Given the description of an element on the screen output the (x, y) to click on. 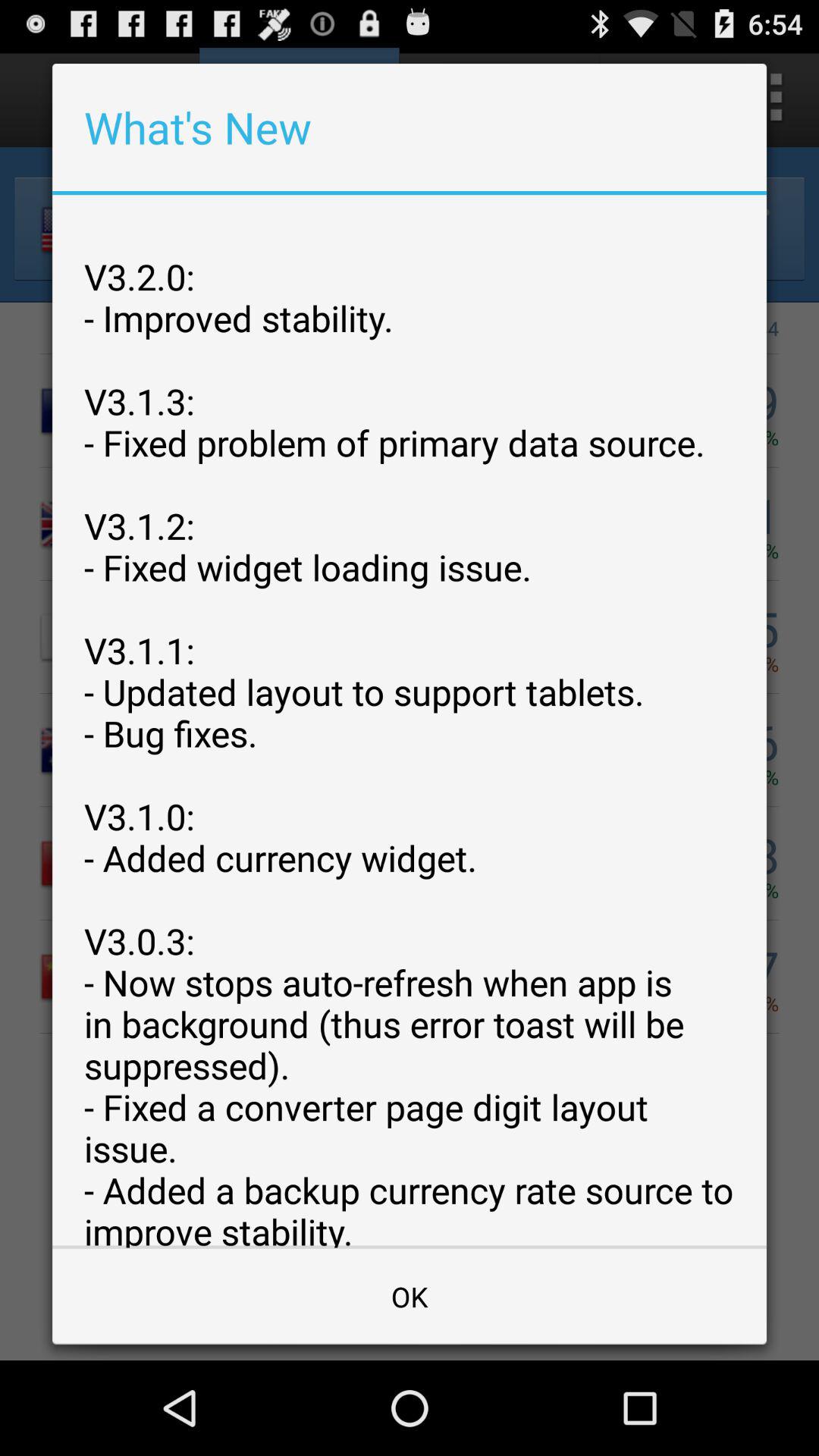
choose the app below v3 2 0 app (409, 1296)
